Given the description of an element on the screen output the (x, y) to click on. 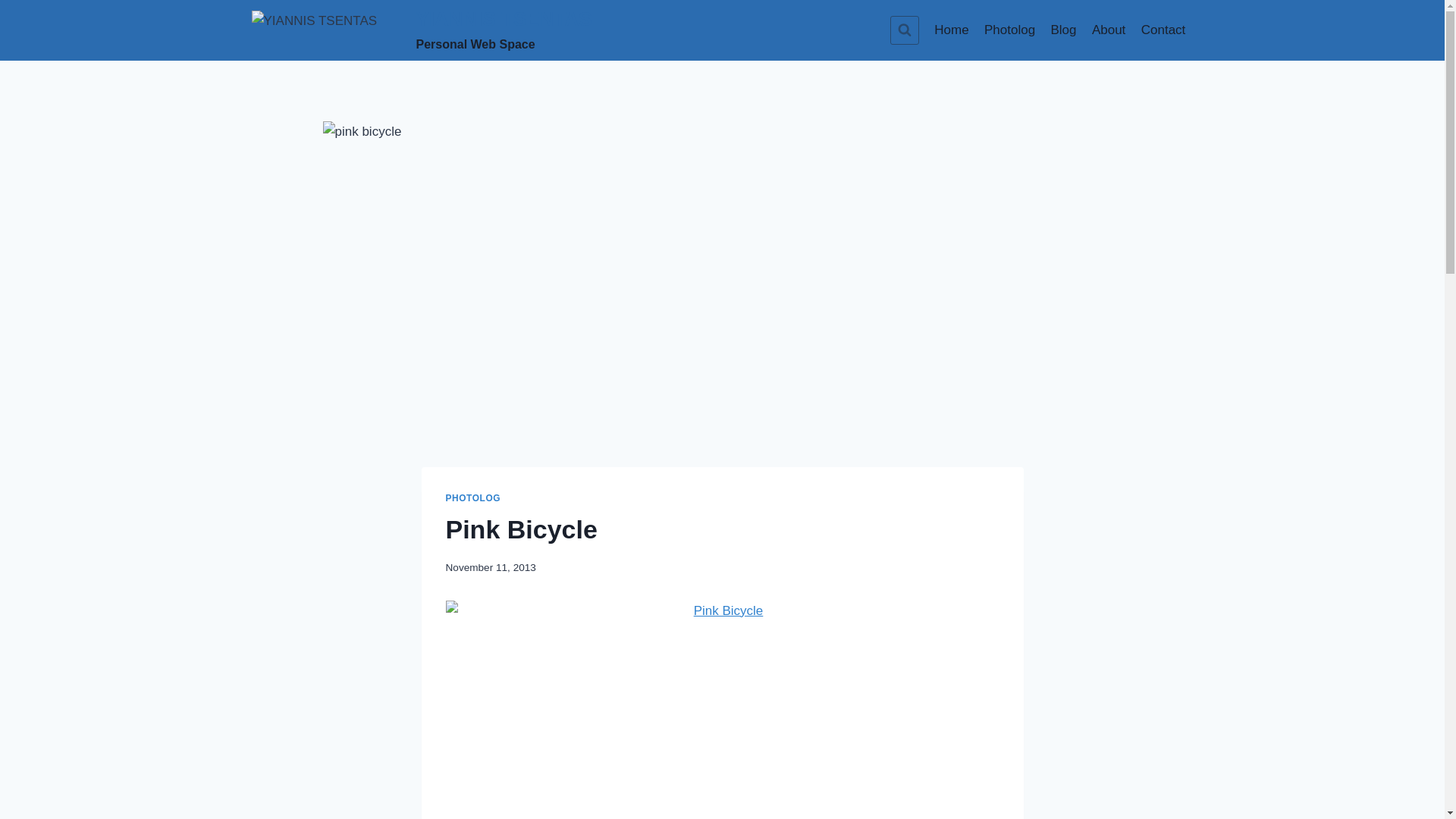
Pink Bicycle 4 (721, 709)
Contact (1163, 30)
Blog (1062, 30)
Photolog (421, 30)
About (1009, 30)
Home (1109, 30)
Pink Bicycle 3 (951, 30)
